Given the description of an element on the screen output the (x, y) to click on. 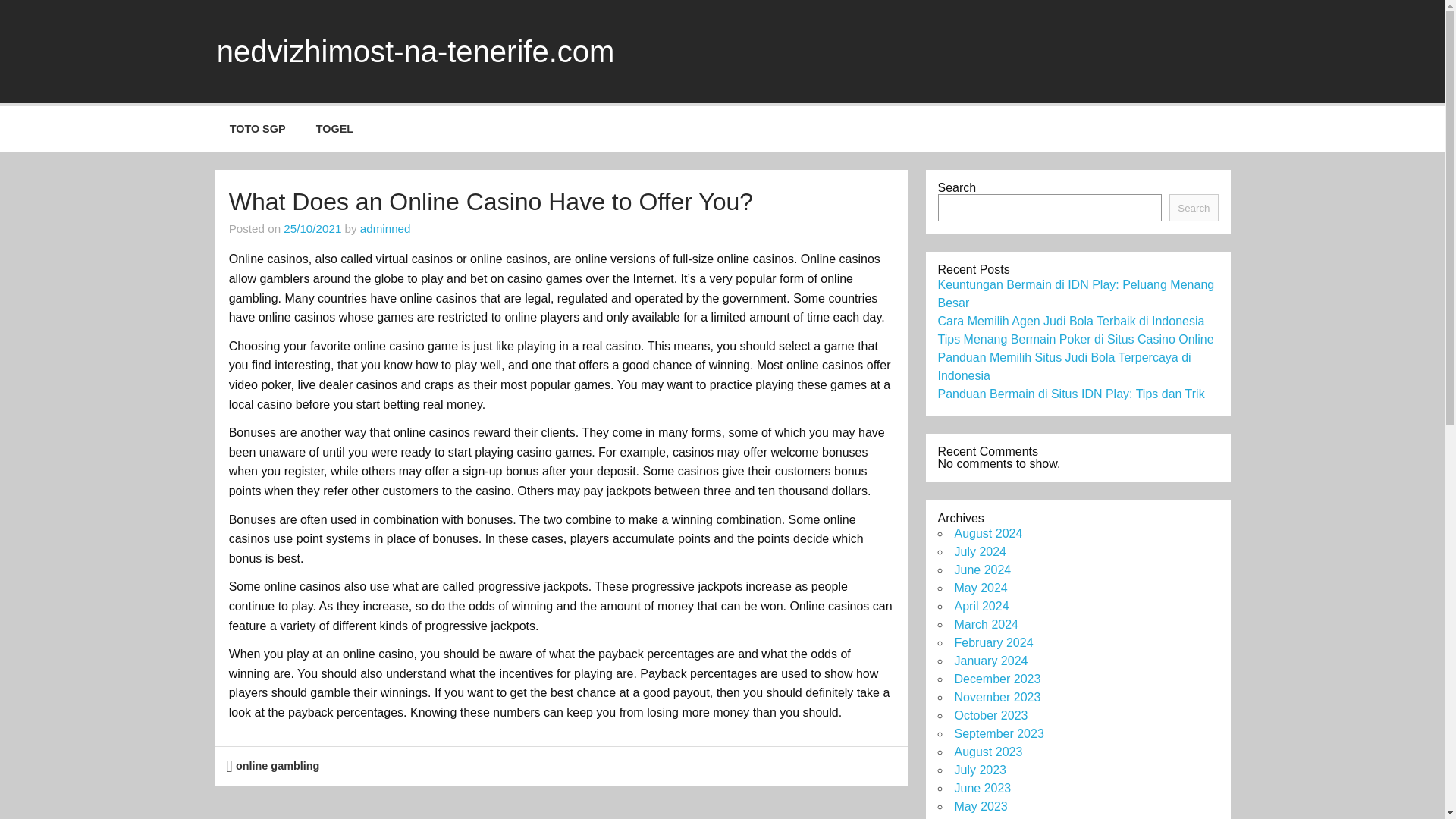
TOTO SGP (256, 128)
January 2024 (990, 660)
Search (1193, 207)
nedvizhimost-na-tenerife.com (415, 51)
Tips Menang Bermain Poker di Situs Casino Online (1074, 338)
18:38 (311, 228)
May 2024 (980, 587)
Cara Memilih Agen Judi Bola Terbaik di Indonesia (1070, 320)
May 2023 (980, 806)
March 2024 (985, 624)
